Given the description of an element on the screen output the (x, y) to click on. 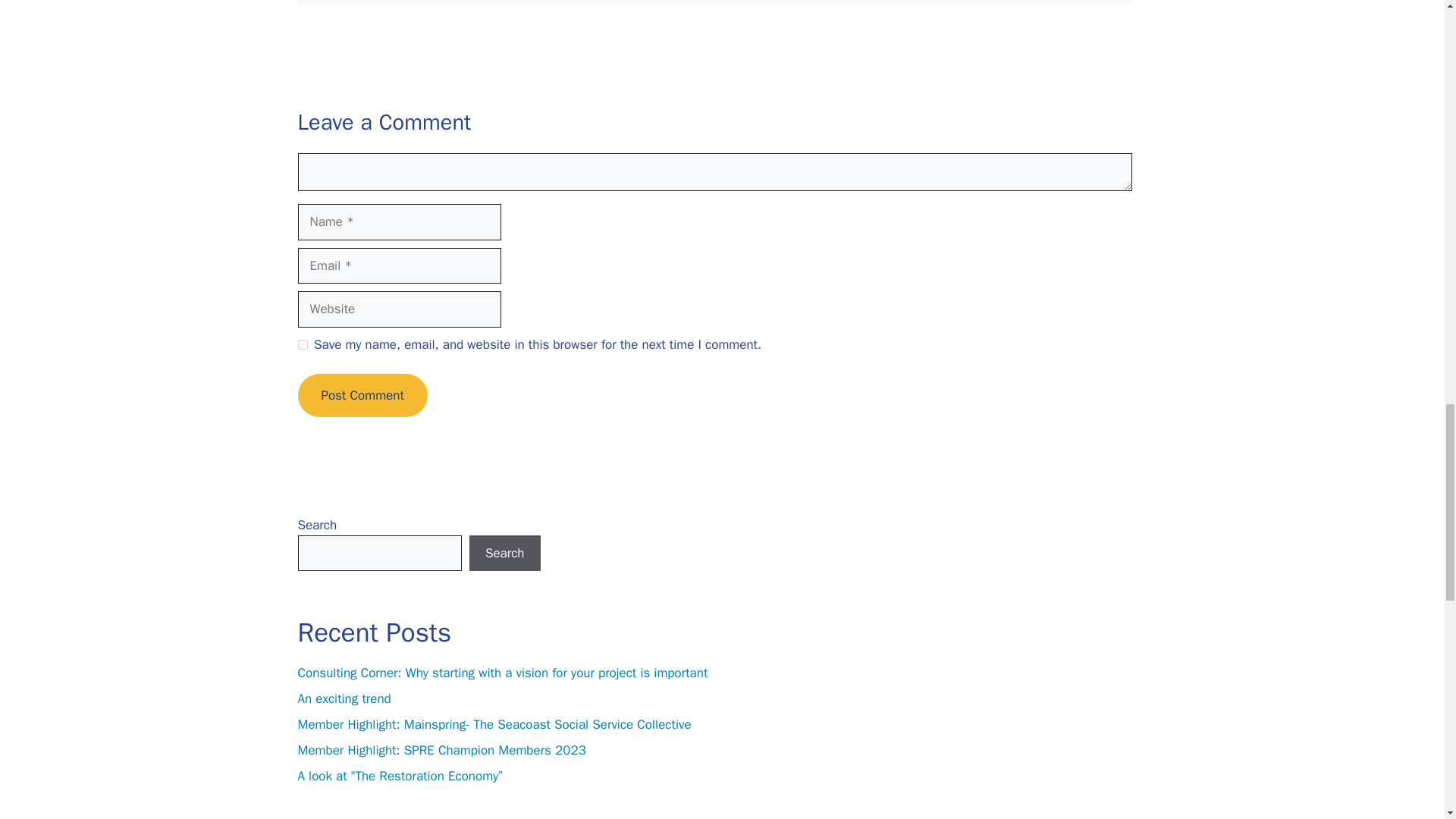
yes (302, 344)
Post Comment (361, 395)
